Given the description of an element on the screen output the (x, y) to click on. 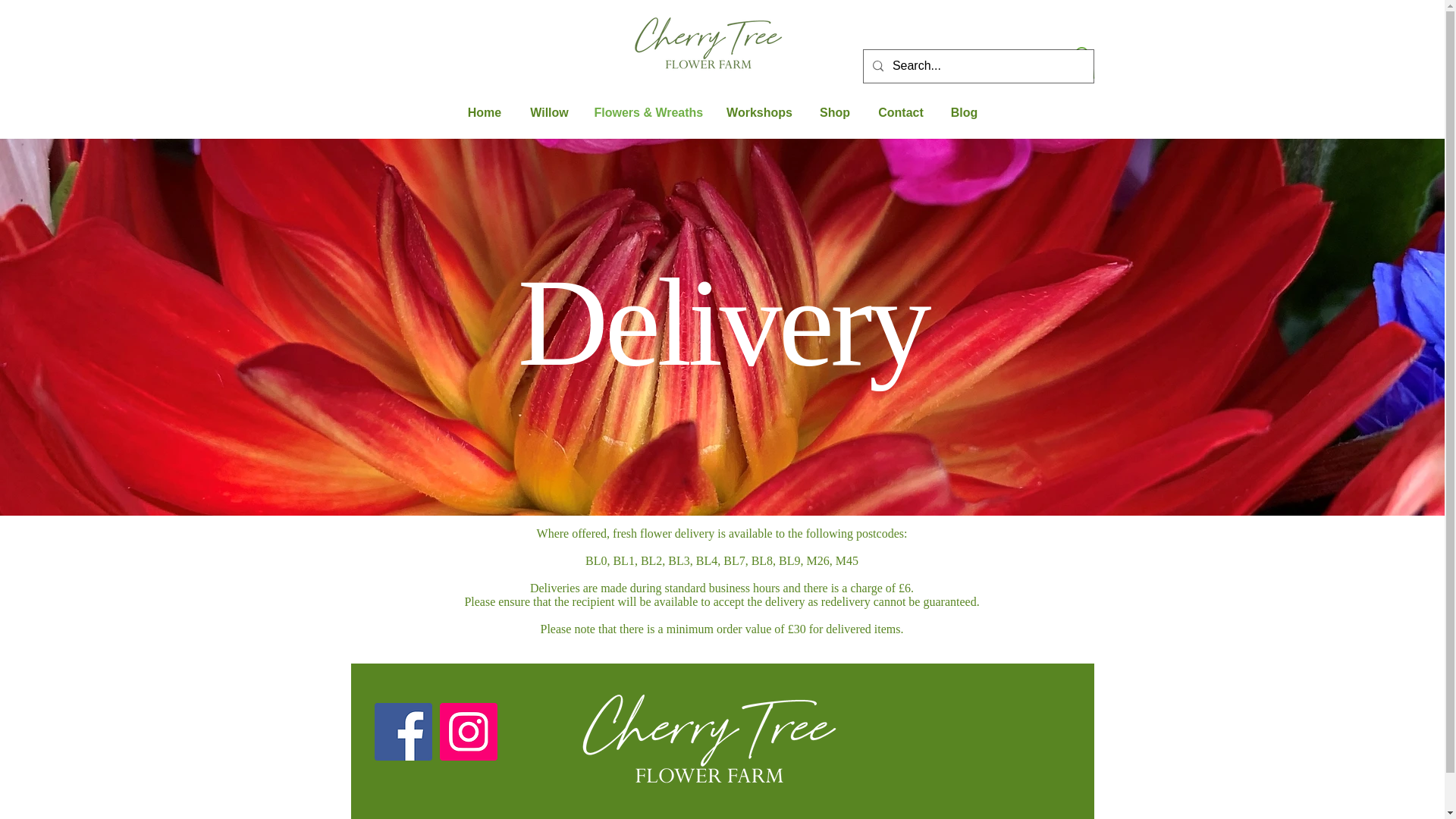
Contact (900, 112)
Blog (964, 112)
Workshops (759, 112)
Willow (548, 112)
Home (484, 112)
Shop (834, 112)
